Given the description of an element on the screen output the (x, y) to click on. 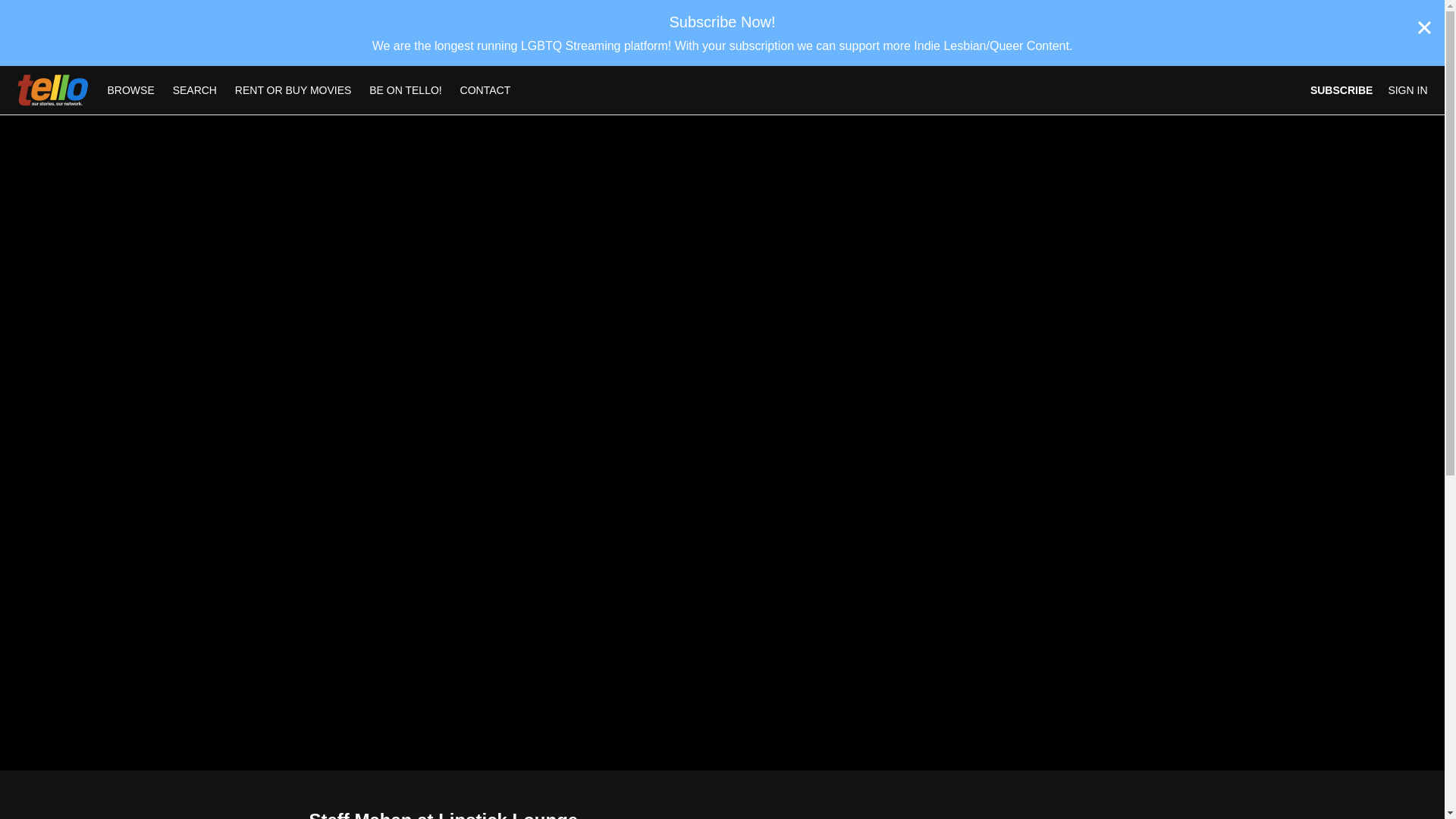
SEARCH (196, 90)
SIGN IN (1406, 90)
BROWSE (132, 90)
CONTACT (485, 90)
RENT OR BUY MOVIES (293, 90)
BE ON TELLO! (404, 90)
Skip to main content (48, 7)
SUBSCRIBE (1341, 90)
